Given the description of an element on the screen output the (x, y) to click on. 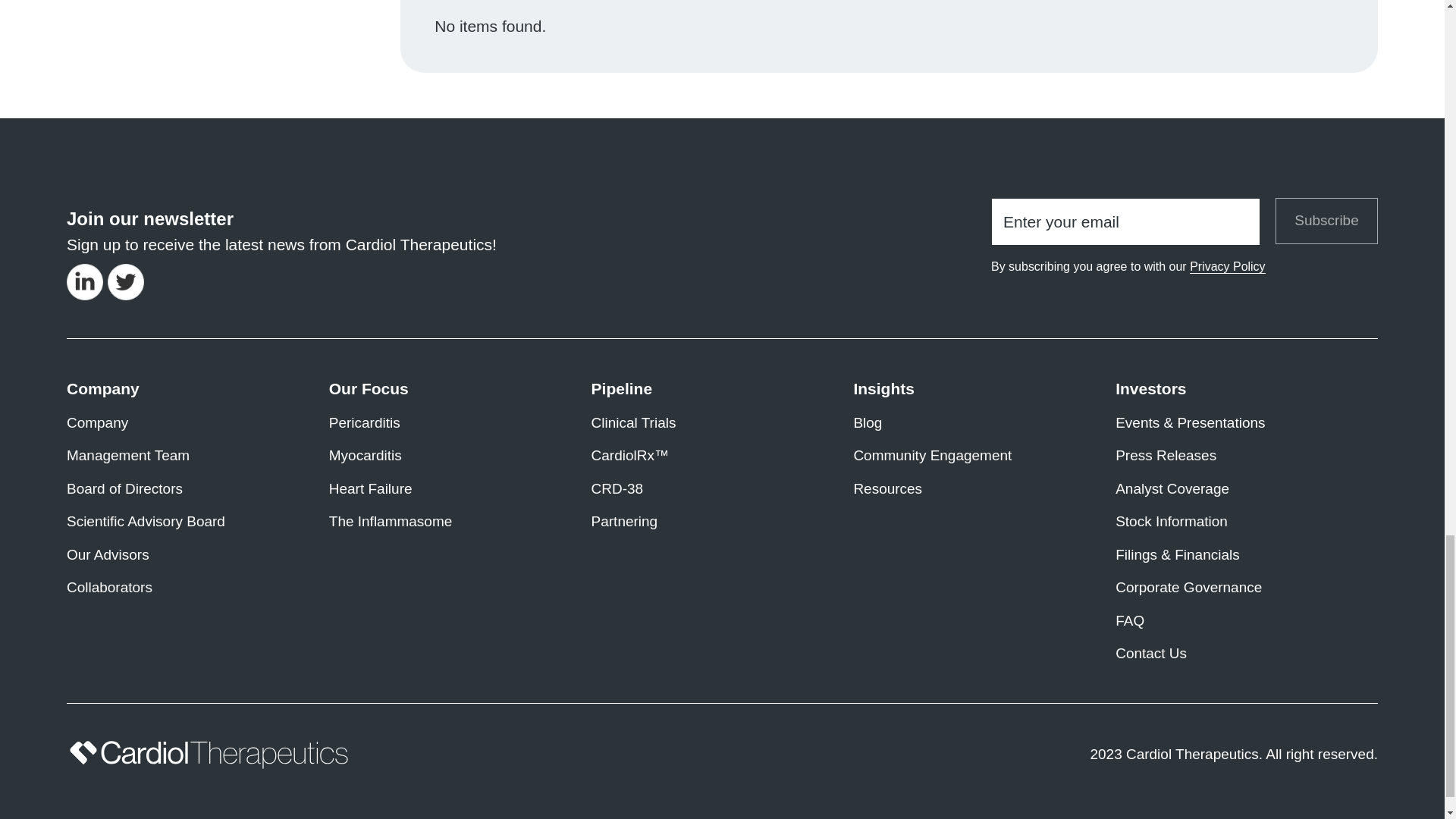
Subscribe (1326, 221)
Privacy Policy (1227, 266)
Cardiol Therapeutics (208, 754)
Subscribe (1326, 221)
